Given the description of an element on the screen output the (x, y) to click on. 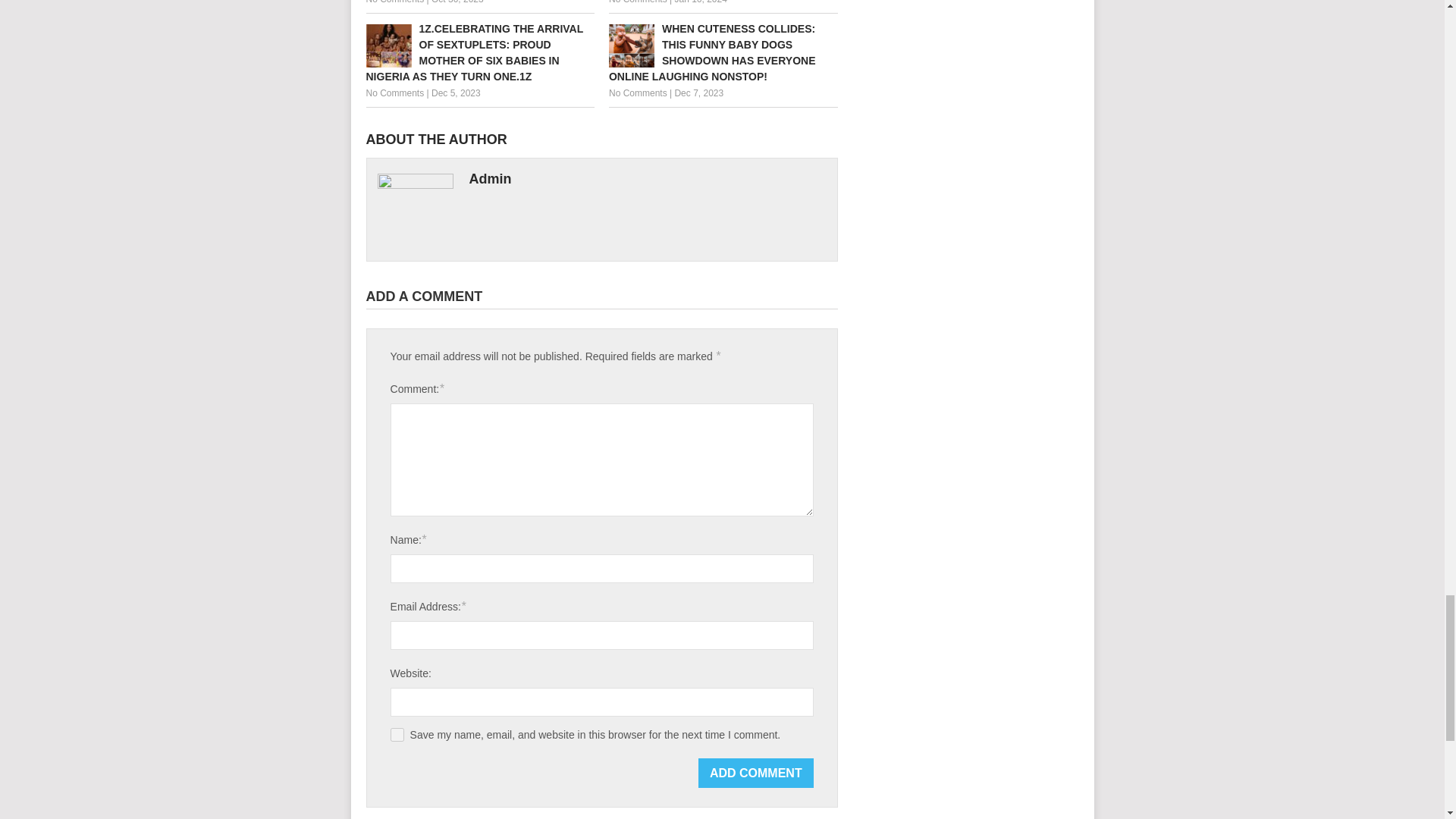
Add Comment (755, 772)
yes (397, 735)
No Comments (394, 92)
No Comments (637, 92)
No Comments (637, 2)
Add Comment (755, 772)
No Comments (394, 2)
